Given the description of an element on the screen output the (x, y) to click on. 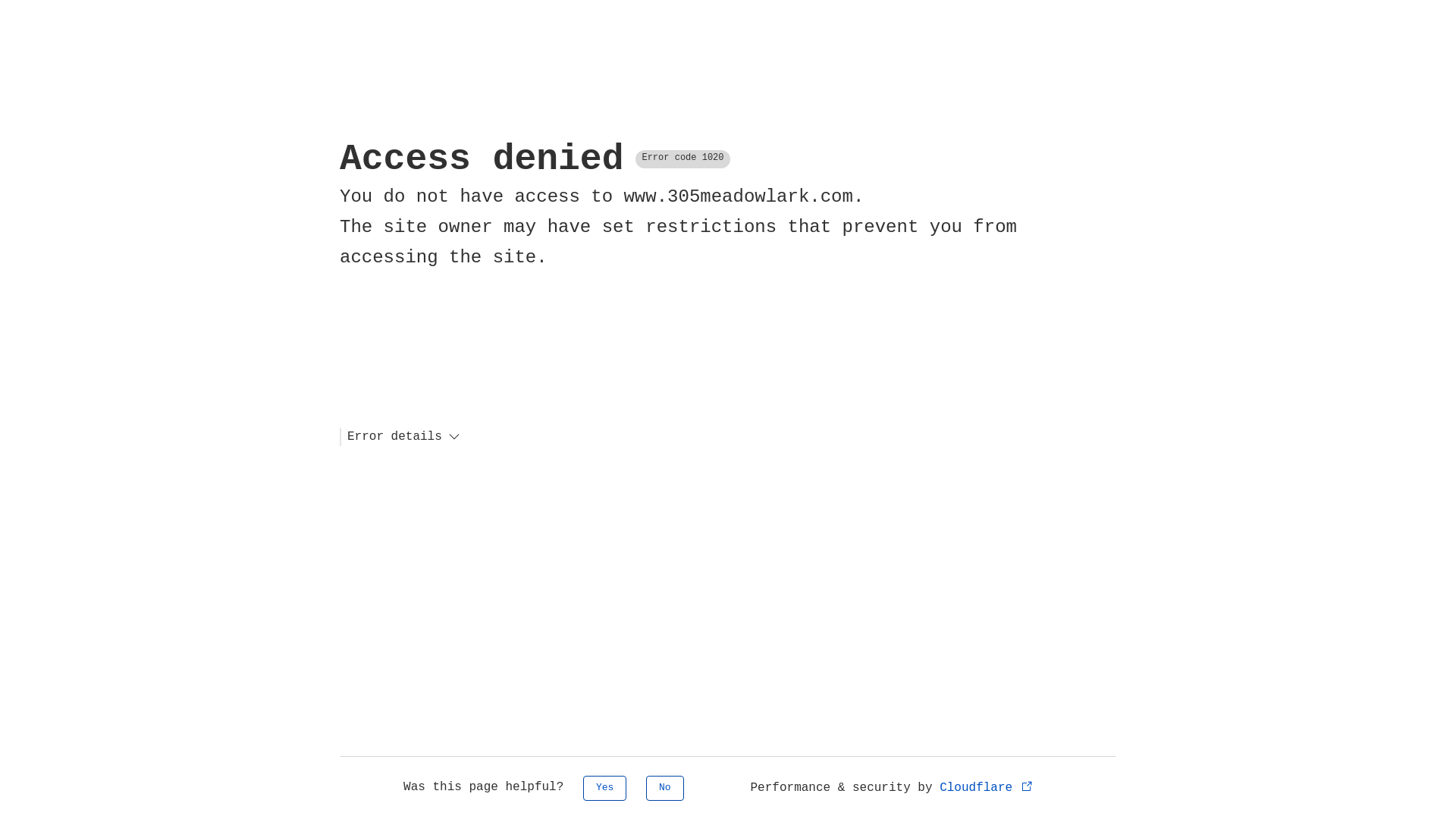
Yes Element type: text (604, 787)
No Element type: text (665, 787)
Opens in new tab Element type: hover (1027, 785)
Cloudflare Element type: text (986, 787)
